Given the description of an element on the screen output the (x, y) to click on. 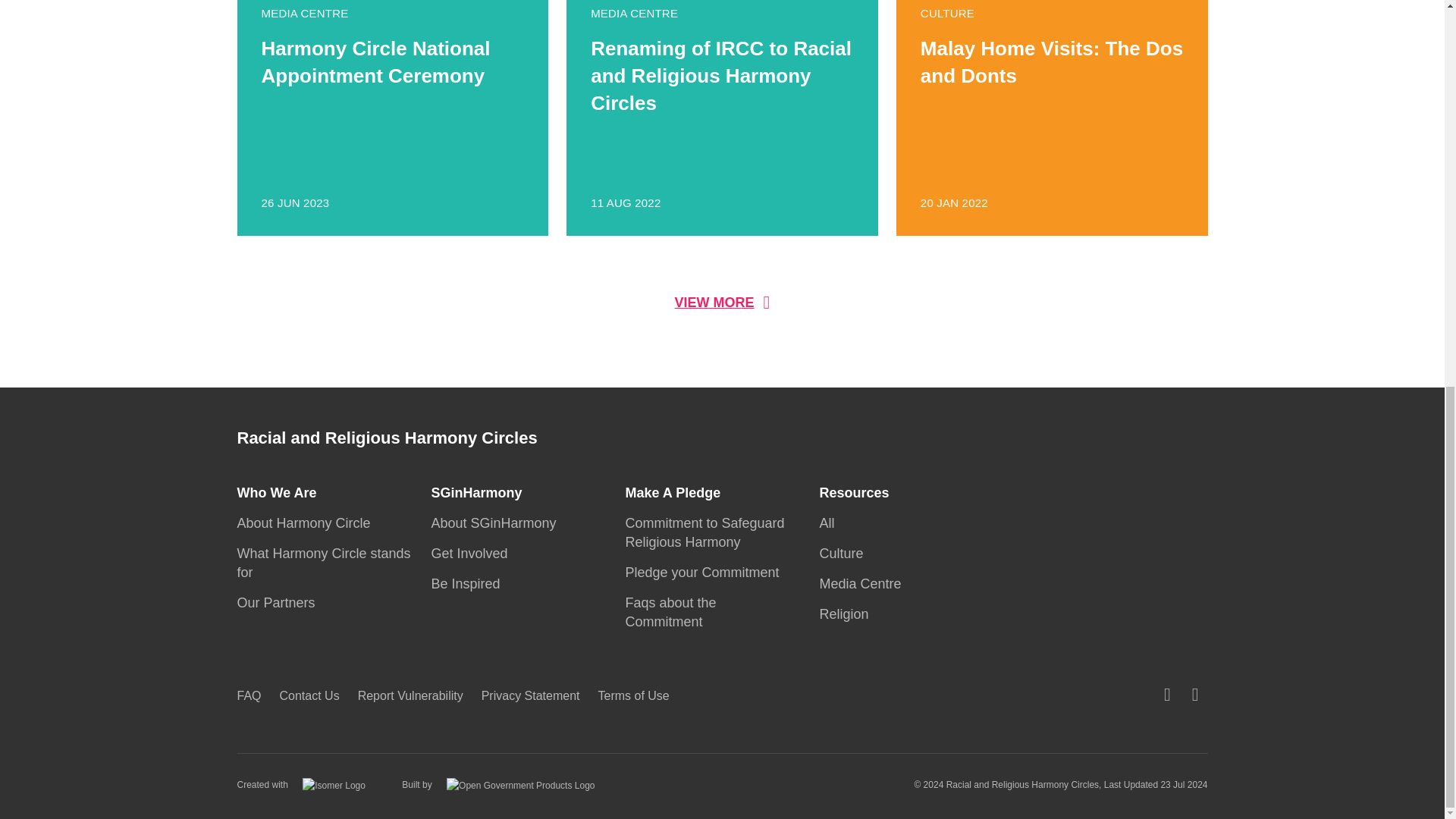
What Harmony Circle stands for (322, 562)
About SGinHarmony (1052, 117)
Our Partners (497, 522)
Be Inspired (279, 602)
VIEW MORE (469, 583)
Commitment to Safeguard Religious Harmony (721, 302)
About Harmony Circle (704, 532)
Make A Pledge (306, 522)
Who We Are (676, 492)
Get Involved (279, 492)
Pledge your Commitment (473, 553)
SGinHarmony (705, 572)
